Given the description of an element on the screen output the (x, y) to click on. 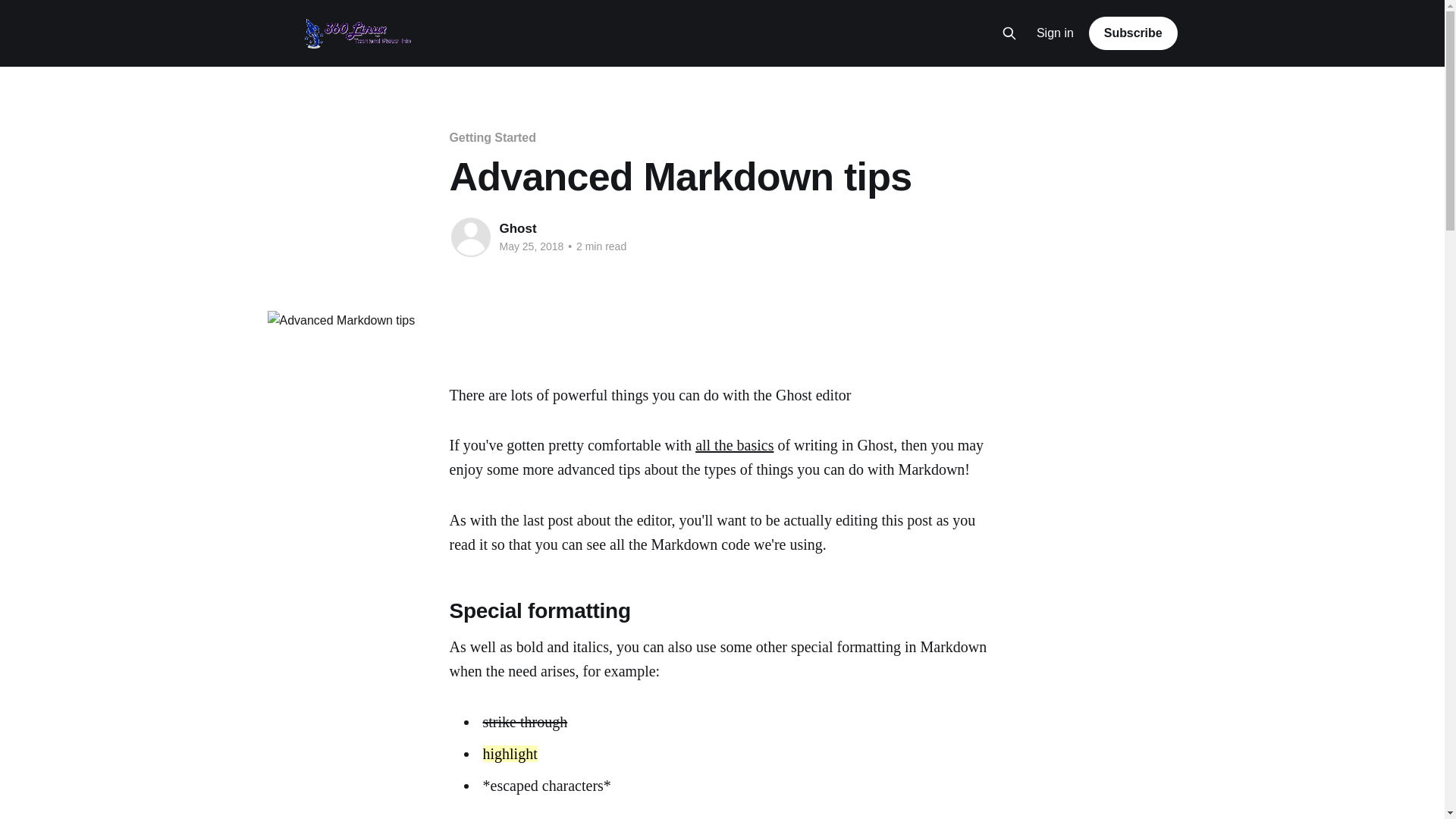
Ghost Element type: text (517, 228)
Getting Started Element type: text (491, 137)
Subscribe Element type: text (1132, 33)
Sign in Element type: text (1054, 33)
all the basics Element type: text (734, 444)
